Given the description of an element on the screen output the (x, y) to click on. 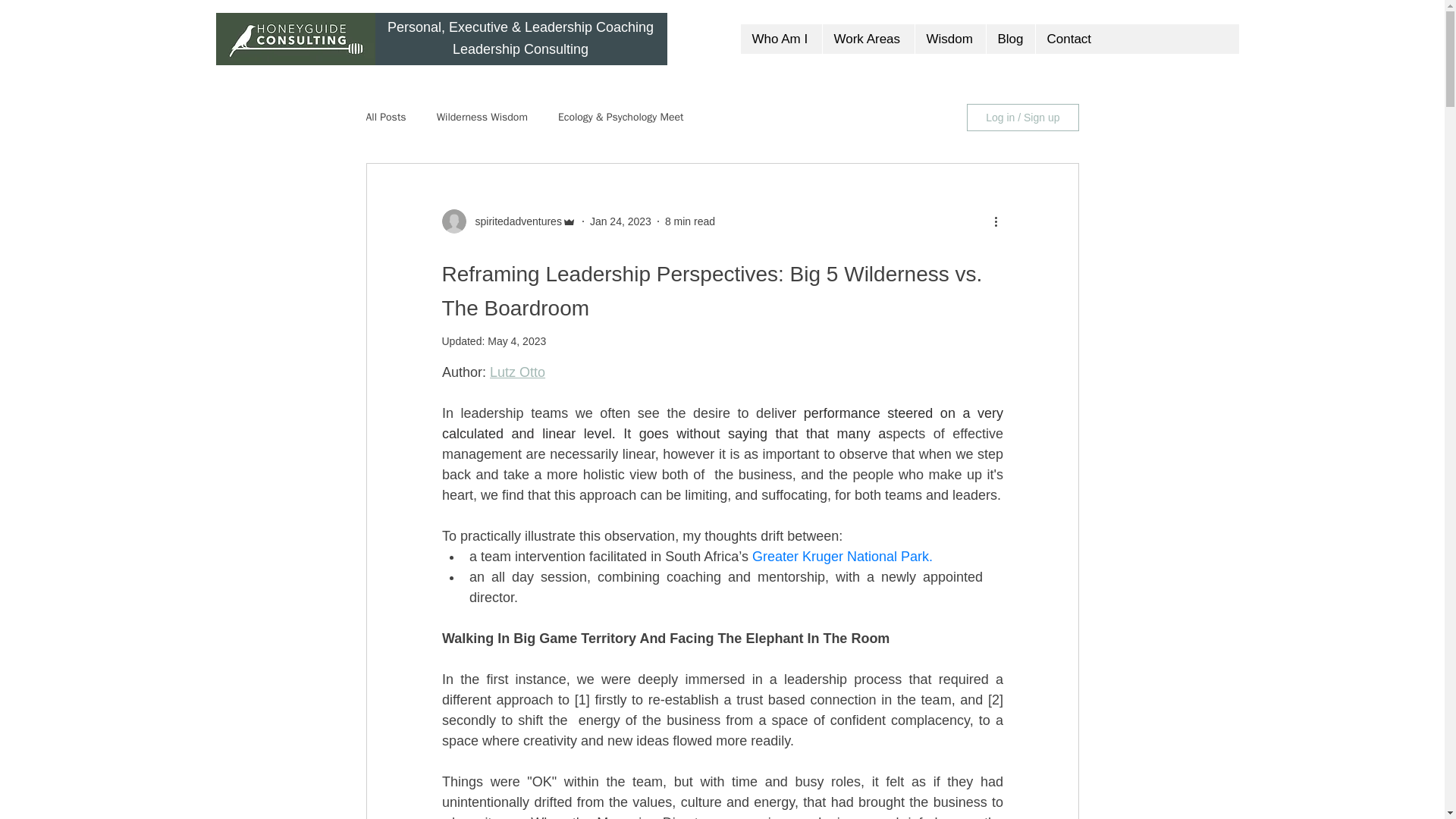
Blog (1010, 39)
Wilderness Wisdom (481, 117)
8 min read (689, 221)
Work Areas (868, 39)
May 4, 2023 (516, 340)
Who Am I (780, 39)
Jan 24, 2023 (619, 221)
Wisdom (949, 39)
Lutz Otto (516, 372)
Greater Kruger National Park (839, 556)
Contact (1066, 39)
All Posts (385, 117)
spiritedadventures (512, 221)
